Given the description of an element on the screen output the (x, y) to click on. 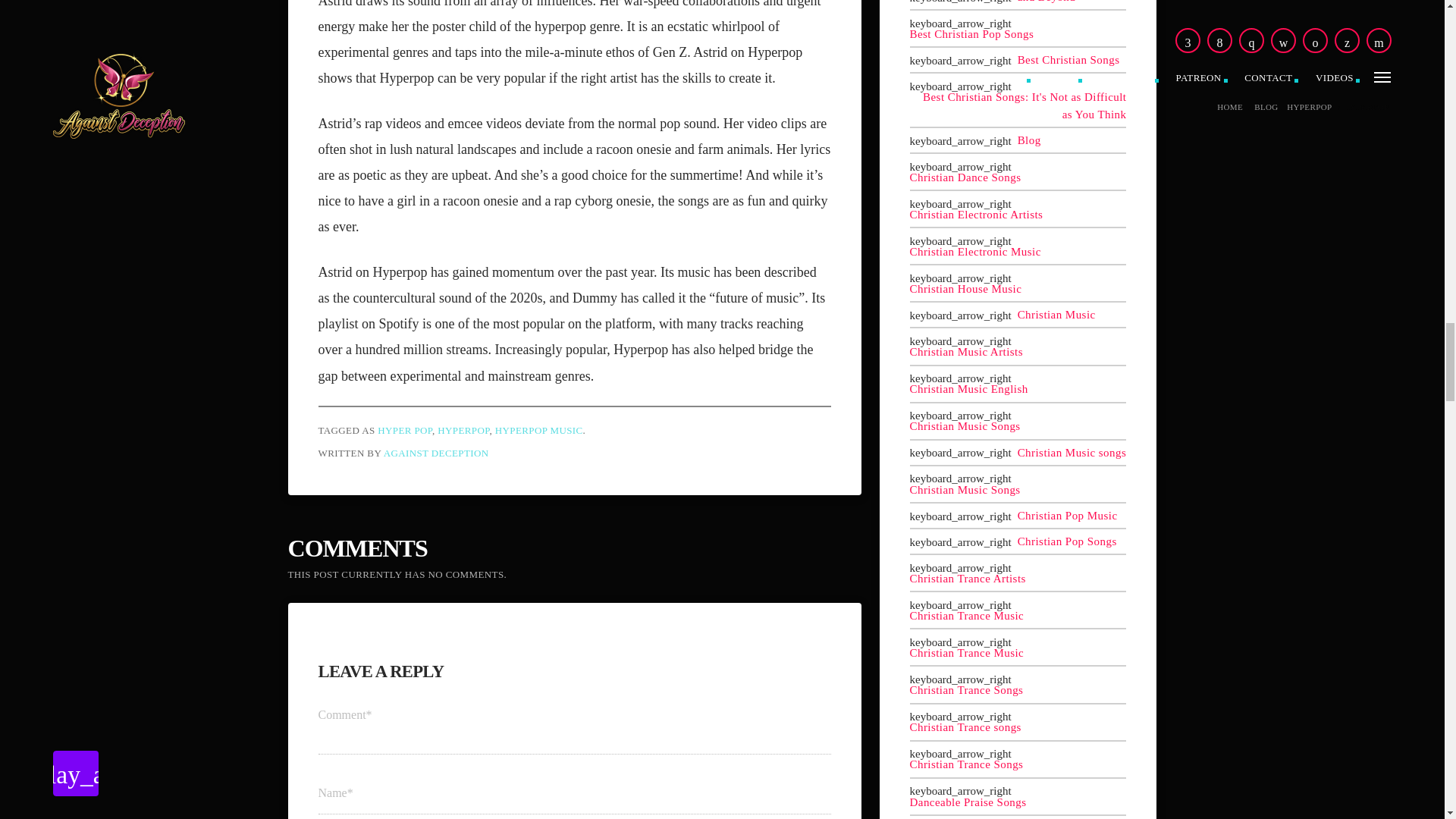
AGAINST DECEPTION (436, 452)
HYPERPOP MUSIC (539, 430)
HYPERPOP (463, 430)
HYPER POP (404, 430)
